Given the description of an element on the screen output the (x, y) to click on. 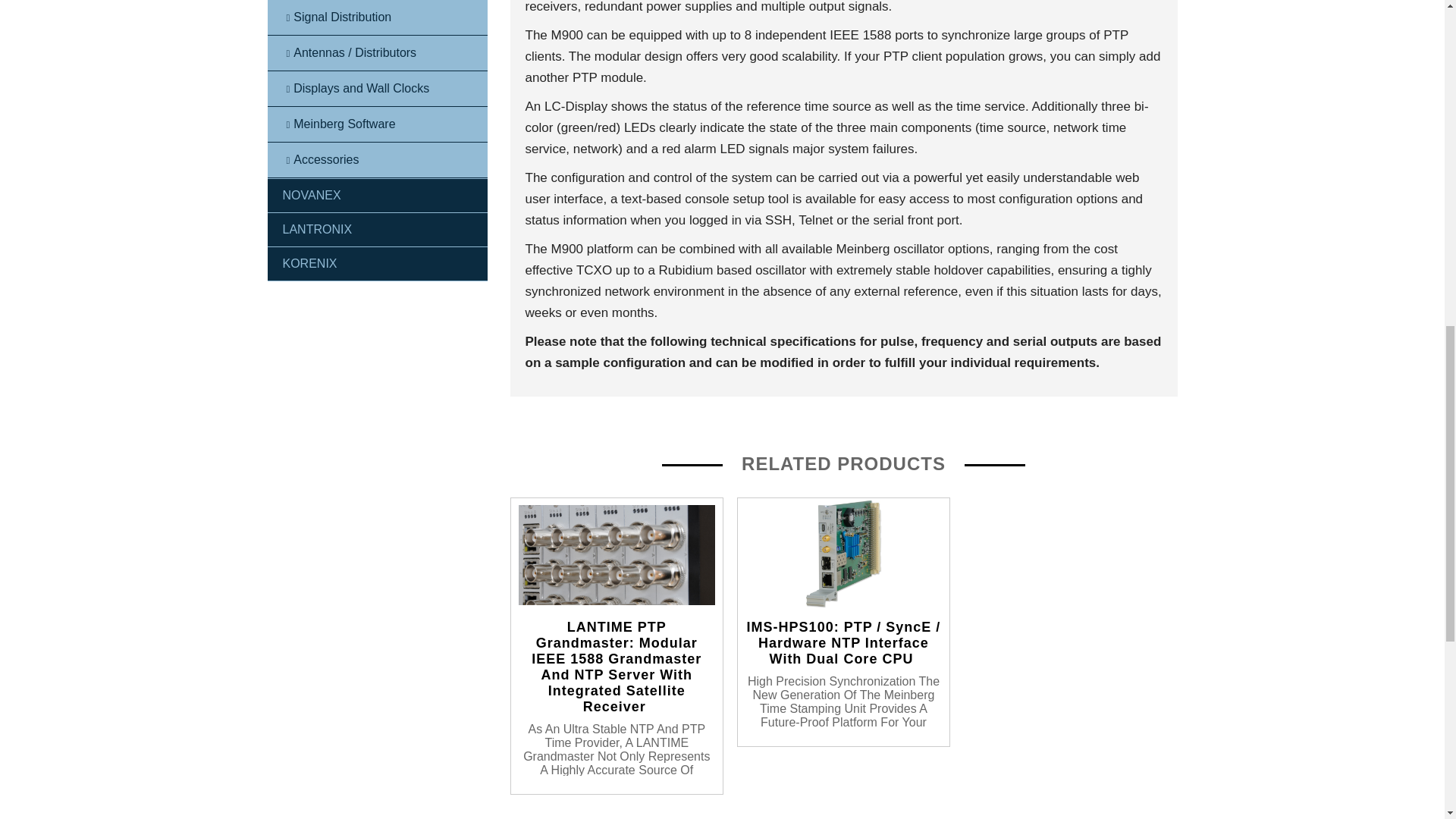
Meinberg Software (376, 124)
NOVANEX (376, 195)
Displays and Wall Clocks (376, 89)
LANTRONIX (376, 229)
KORENIX (376, 263)
Accessories (376, 160)
Signal Distribution (376, 18)
